Given the description of an element on the screen output the (x, y) to click on. 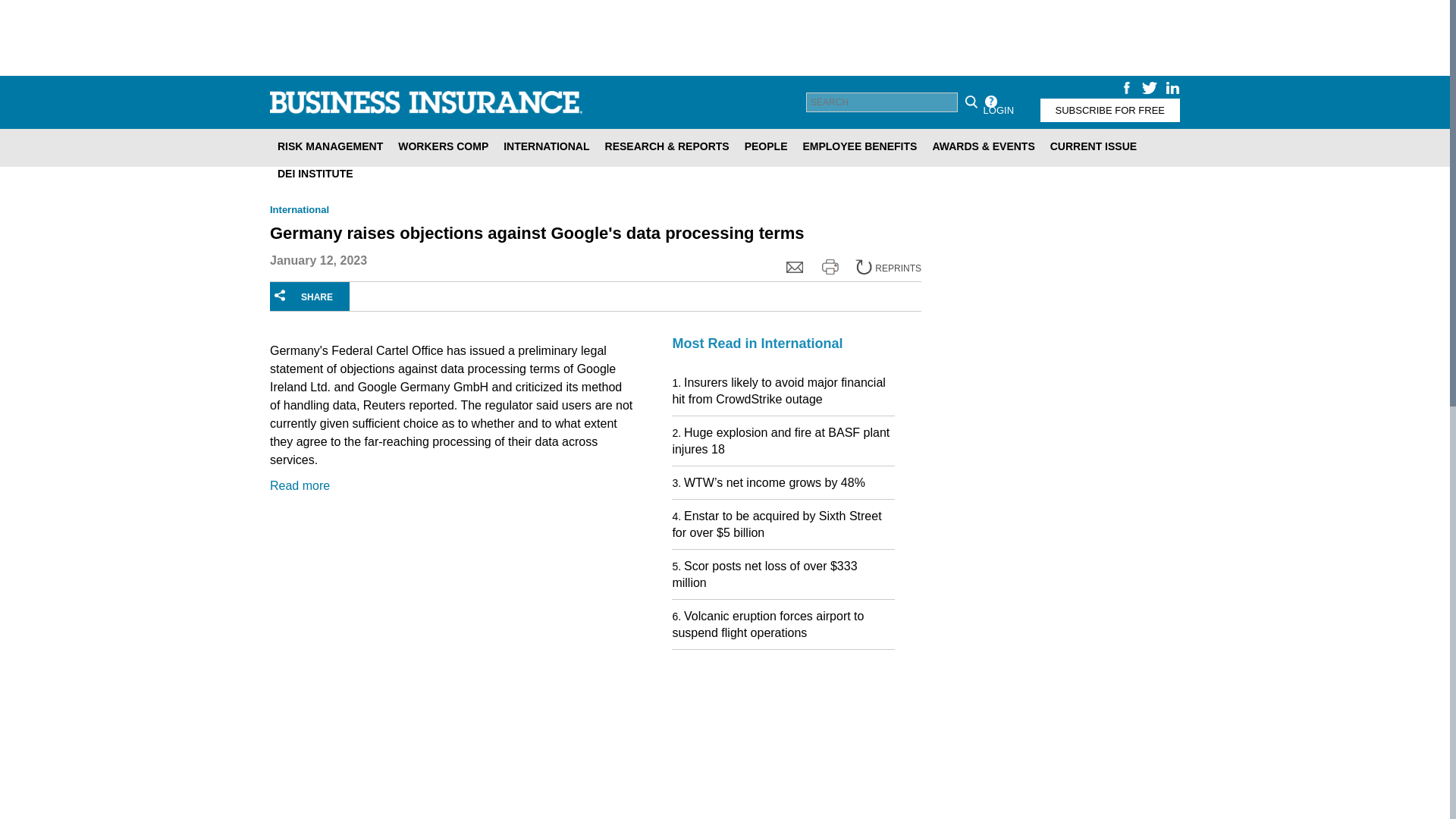
SUBSCRIBE FOR FREE (1110, 110)
WORKERS COMP (443, 145)
INTERNATIONAL (546, 145)
LOGIN (998, 110)
PEOPLE (765, 145)
RISK MANAGEMENT (329, 145)
Help (990, 101)
